Given the description of an element on the screen output the (x, y) to click on. 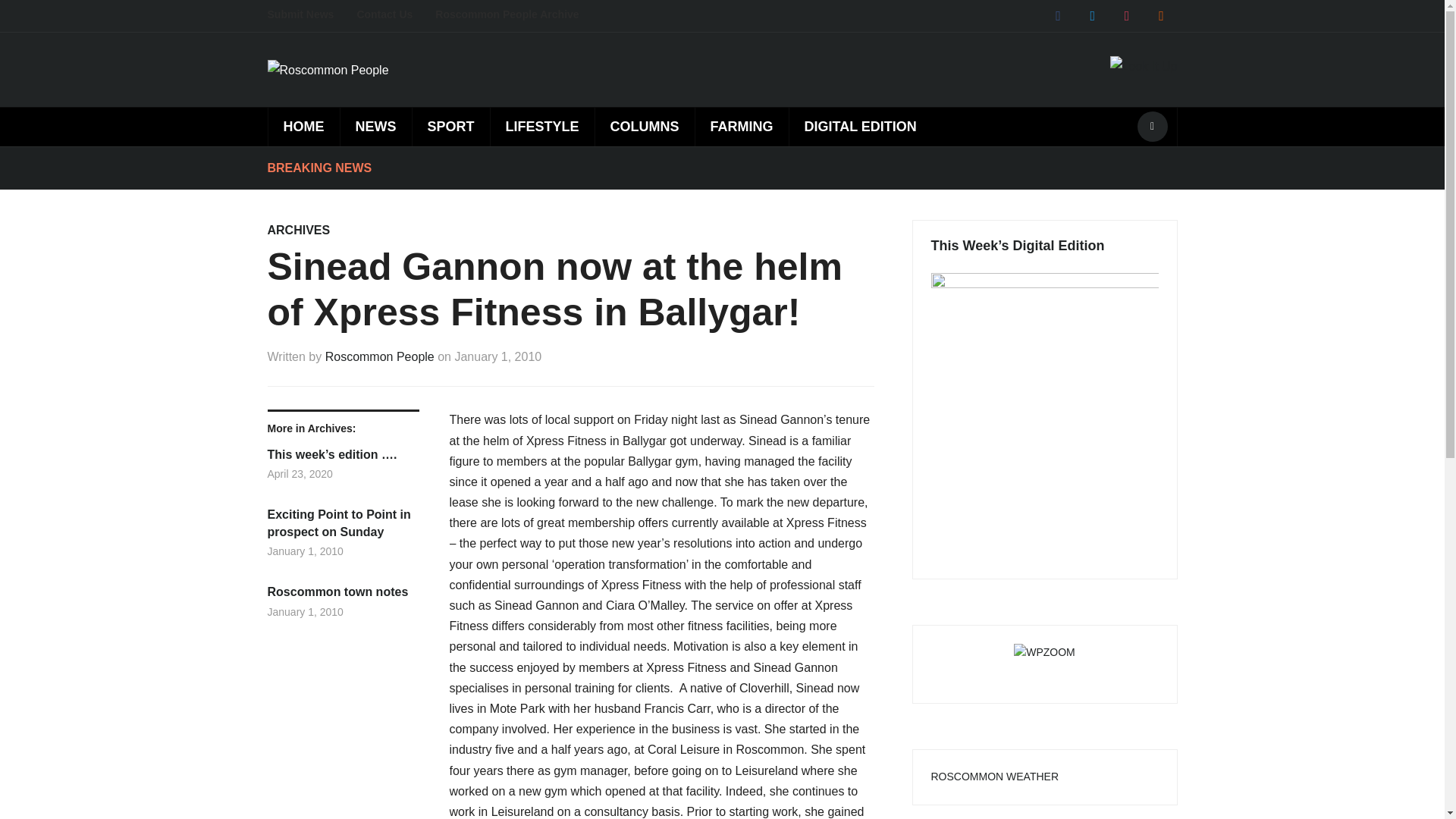
Search (1152, 126)
COLUMNS (644, 126)
ARCHIVES (298, 229)
HOME (302, 126)
LIFESTYLE (541, 126)
FARMING (741, 126)
facebook (1057, 14)
SPORT (449, 126)
Roscommon People Archive (518, 15)
Contact Us (395, 15)
